Given the description of an element on the screen output the (x, y) to click on. 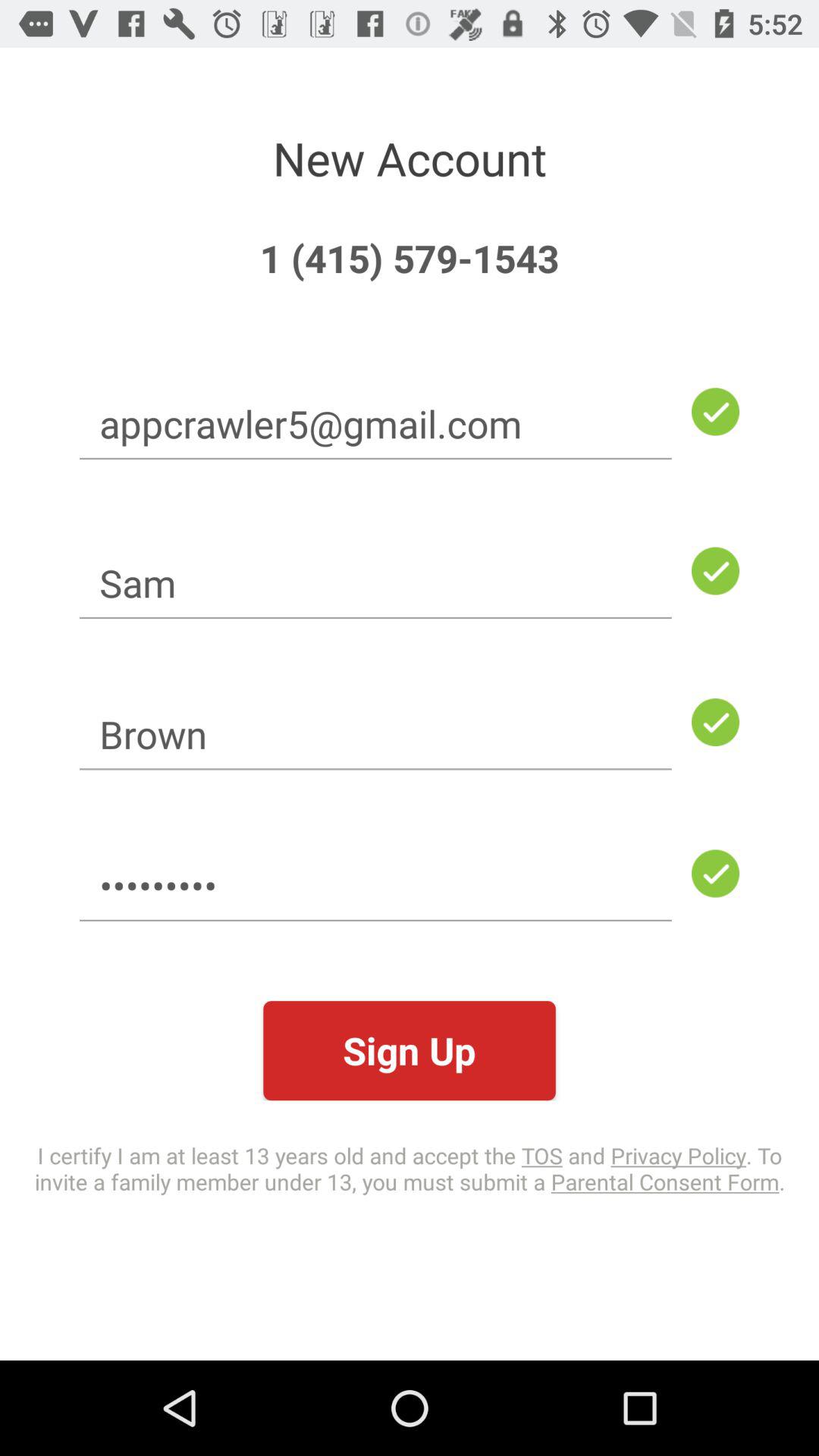
jump to the i certify i item (409, 1168)
